Given the description of an element on the screen output the (x, y) to click on. 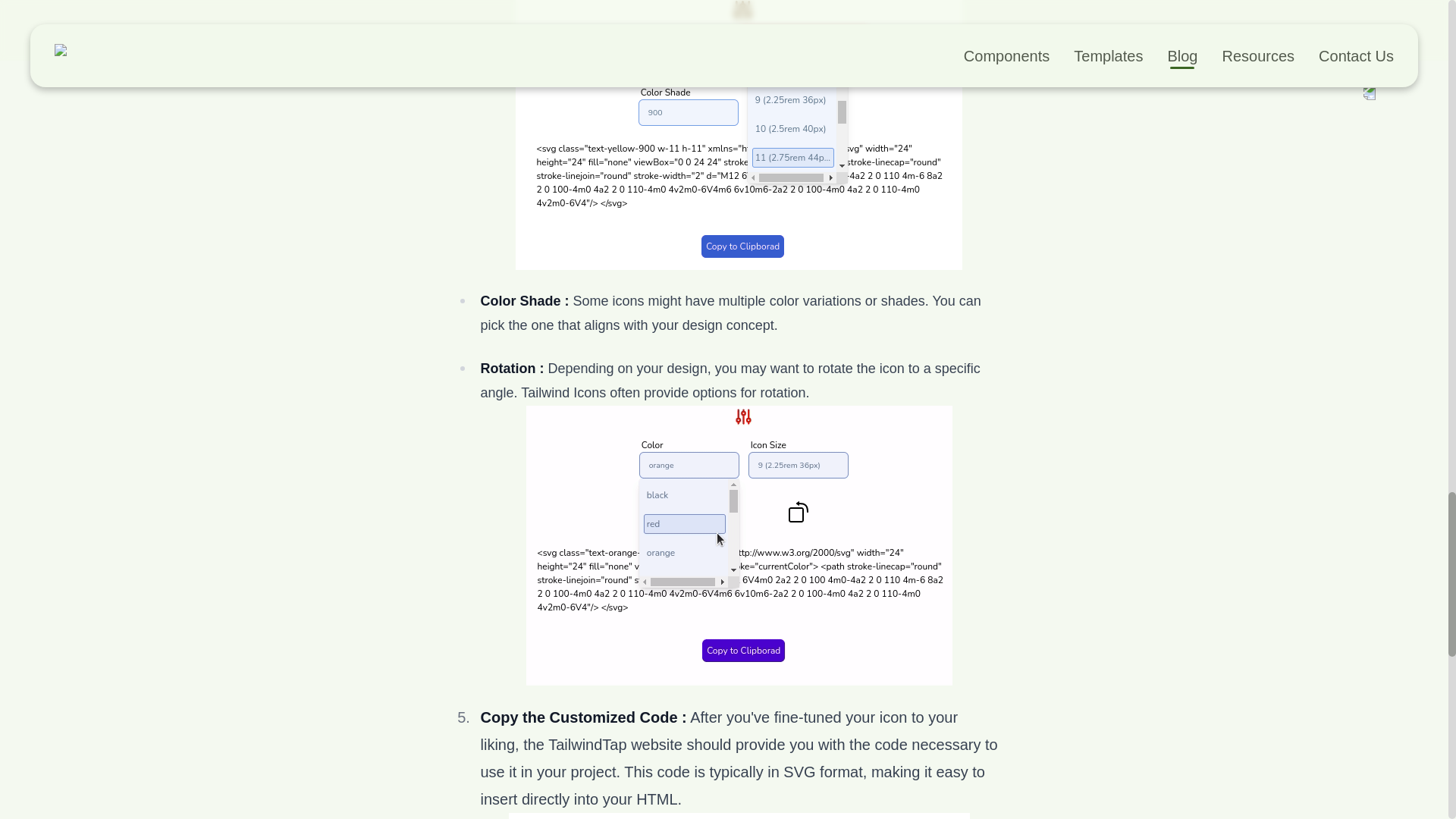
Rotating Icons with Tailwind Icons (738, 545)
Tailwind UI Icons (738, 816)
Popular Tailwind Icons (738, 135)
